Given the description of an element on the screen output the (x, y) to click on. 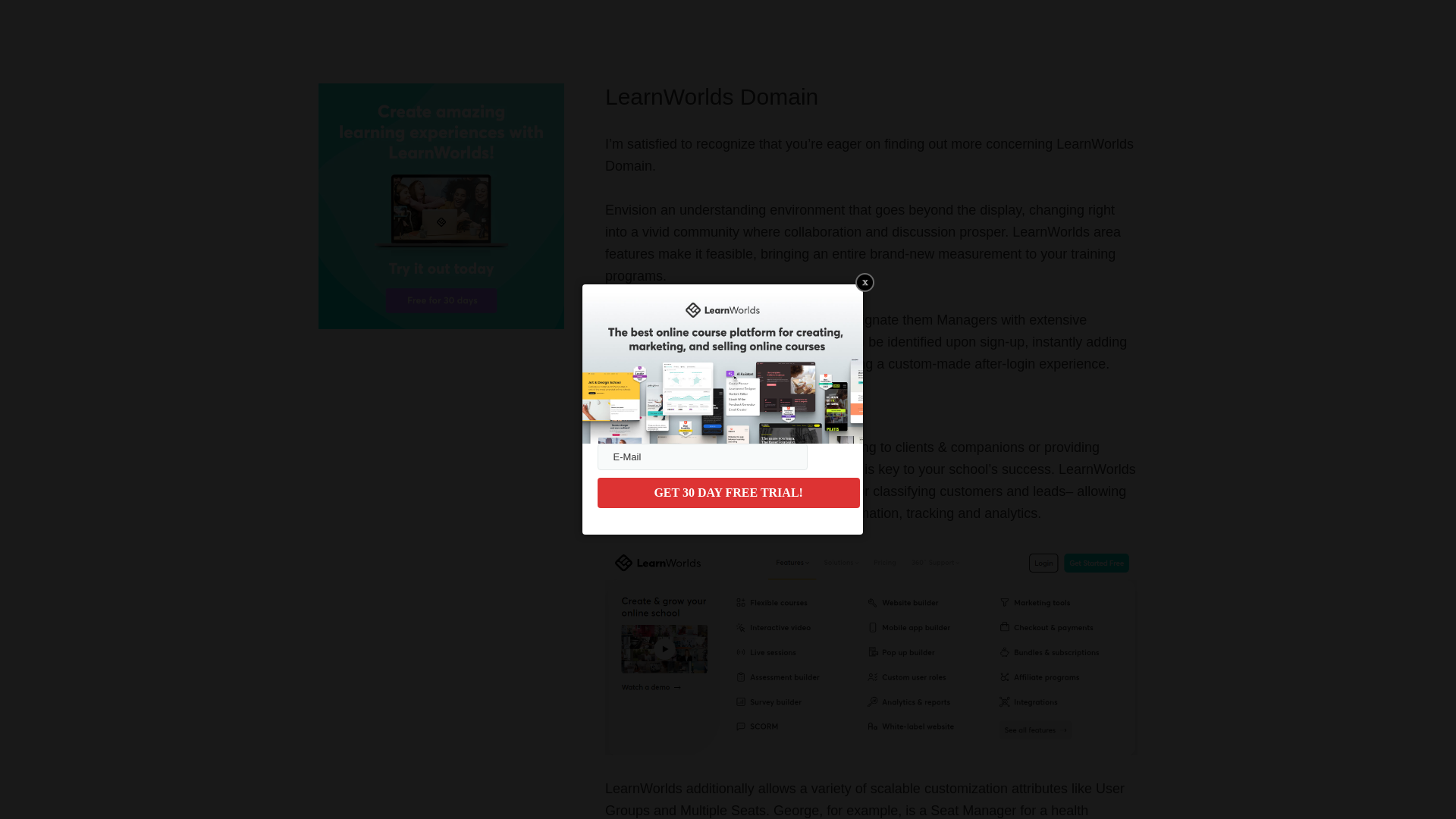
GET 30 DAY FREE TRIAL! (728, 492)
GET 30 DAY FREE TRIAL! (728, 492)
